Given the description of an element on the screen output the (x, y) to click on. 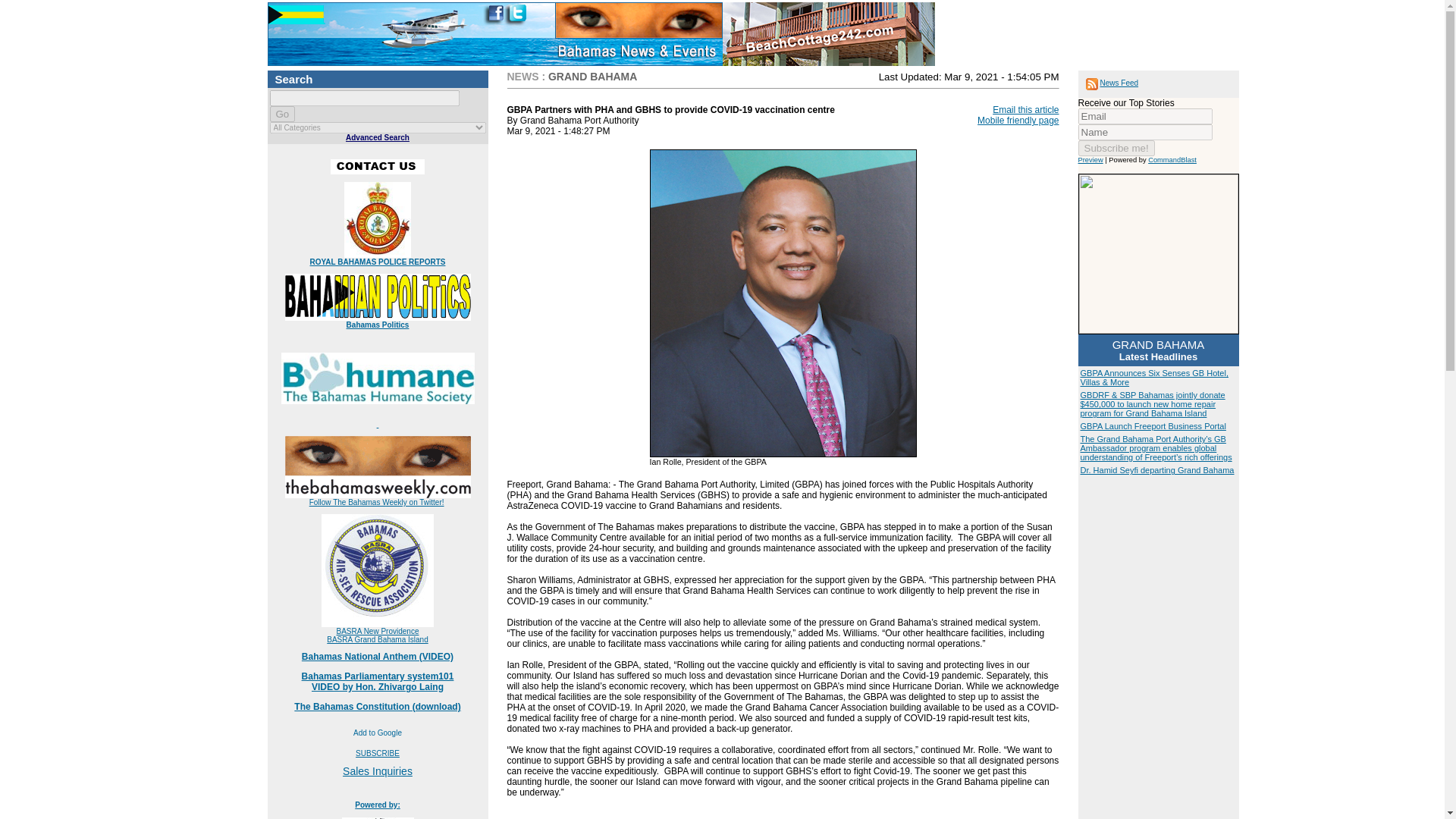
Bahamas Politics (377, 325)
Subscribe me! (1116, 148)
BASRA New Providence (377, 631)
Advanced Search (377, 137)
Go (282, 114)
Follow The Bahamas Weekly on Twitter! (376, 501)
Go (282, 114)
SUBSCRIBE (376, 753)
Sales Inquiries (377, 770)
BASRA Grand Bahama Island (377, 639)
ROYAL BAHAMAS POLICE REPORTS (377, 261)
Powered by: (377, 681)
